Given the description of an element on the screen output the (x, y) to click on. 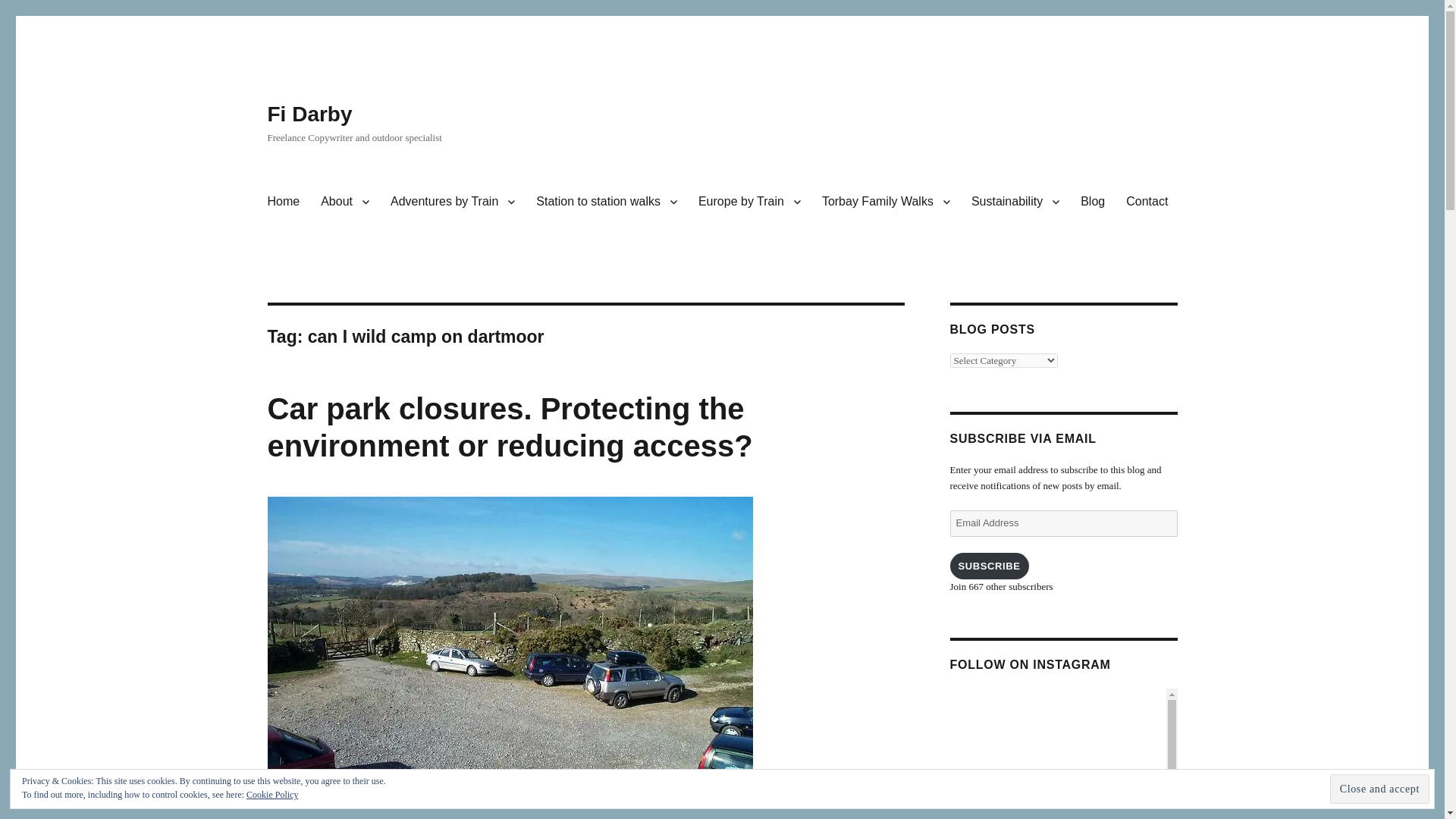
About (345, 201)
Fi Darby (309, 114)
Home (283, 201)
Adventures by Train (452, 201)
Close and accept (1379, 788)
